Given the description of an element on the screen output the (x, y) to click on. 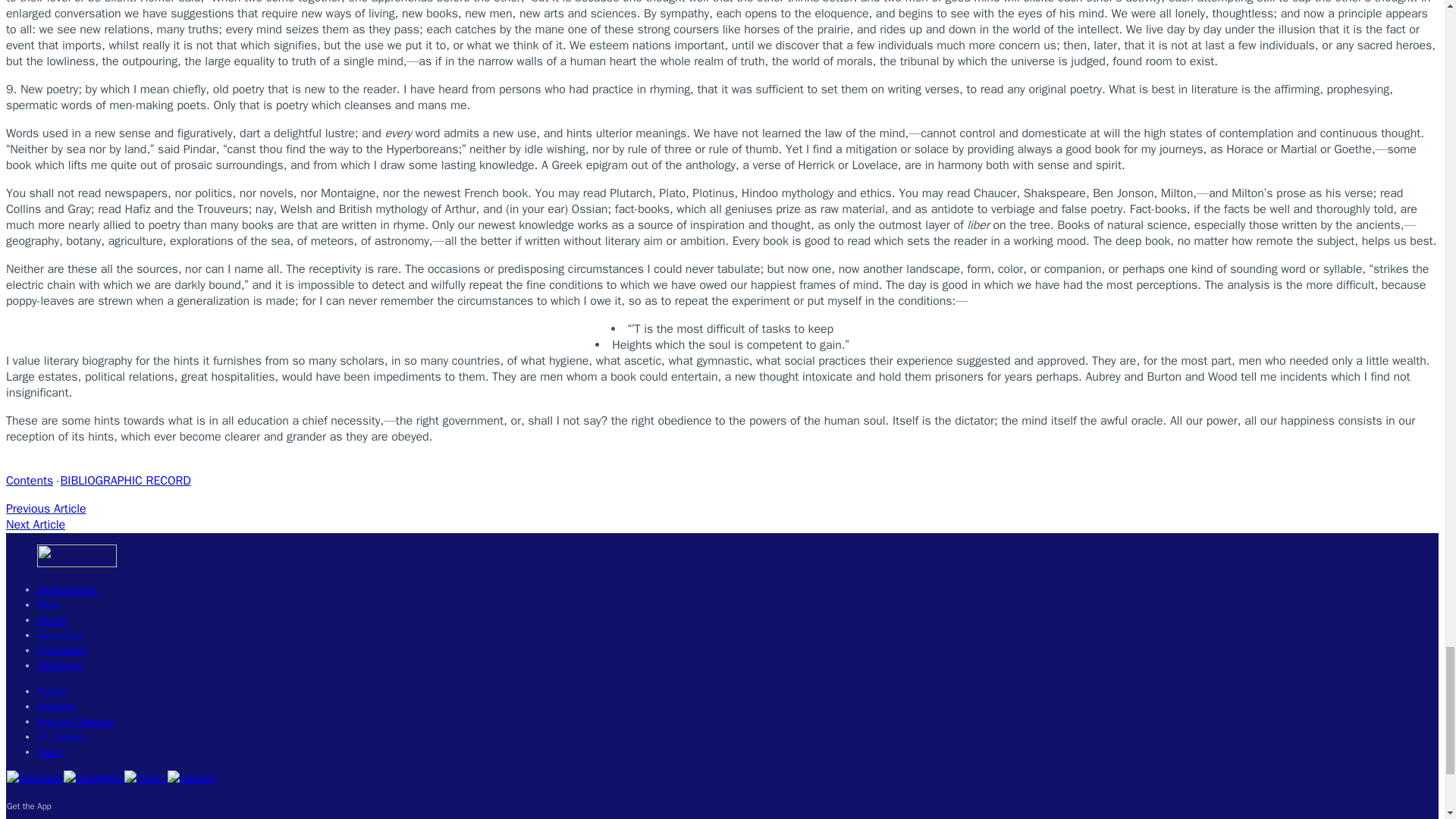
Harvard Classics (75, 721)
Anatomy (57, 706)
Bible (48, 604)
Poetry (51, 751)
Previous Article (45, 508)
Contents (28, 480)
Fiction (51, 690)
Strunk (51, 619)
Reference (59, 665)
Quotations (62, 649)
Nonfiction (59, 634)
Shakespeare (67, 589)
Lit. History (61, 736)
Next Article (35, 524)
BIBLIOGRAPHIC RECORD (125, 480)
